Given the description of an element on the screen output the (x, y) to click on. 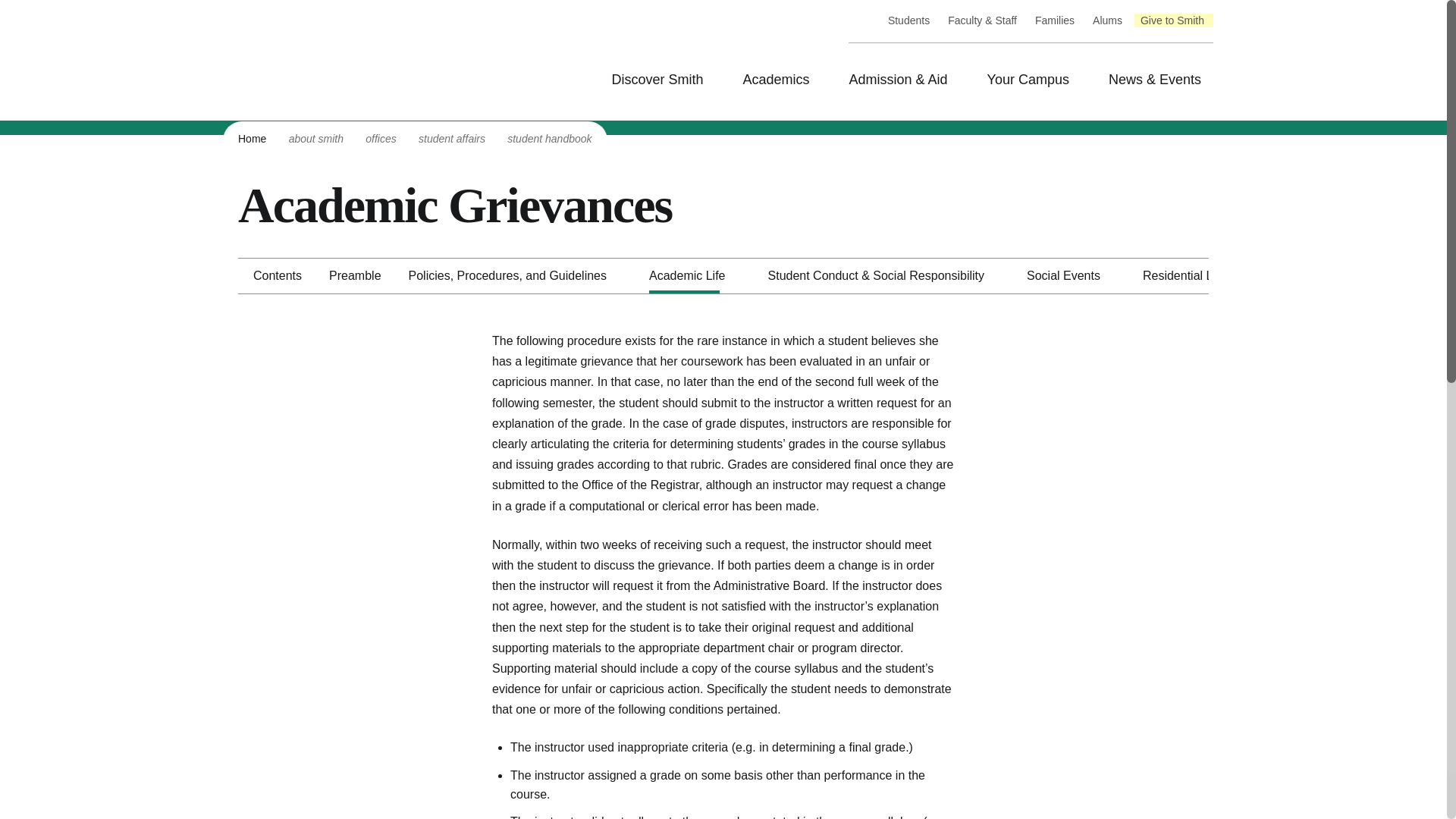
Expand Discover Smith Menu (235, 576)
Search Toggle (125, 427)
Students (57, 176)
Smith College logo (118, 359)
Alums (52, 217)
Contact Smith (101, 725)
Menu (24, 496)
Governance (95, 697)
Expand Academics Menu (213, 775)
Enter the terms you wish to search for. (133, 13)
Families (57, 204)
Discover Smith (75, 627)
Smith at a Glance (109, 711)
President Sarah Willie-LeBreton (145, 670)
